Given the description of an element on the screen output the (x, y) to click on. 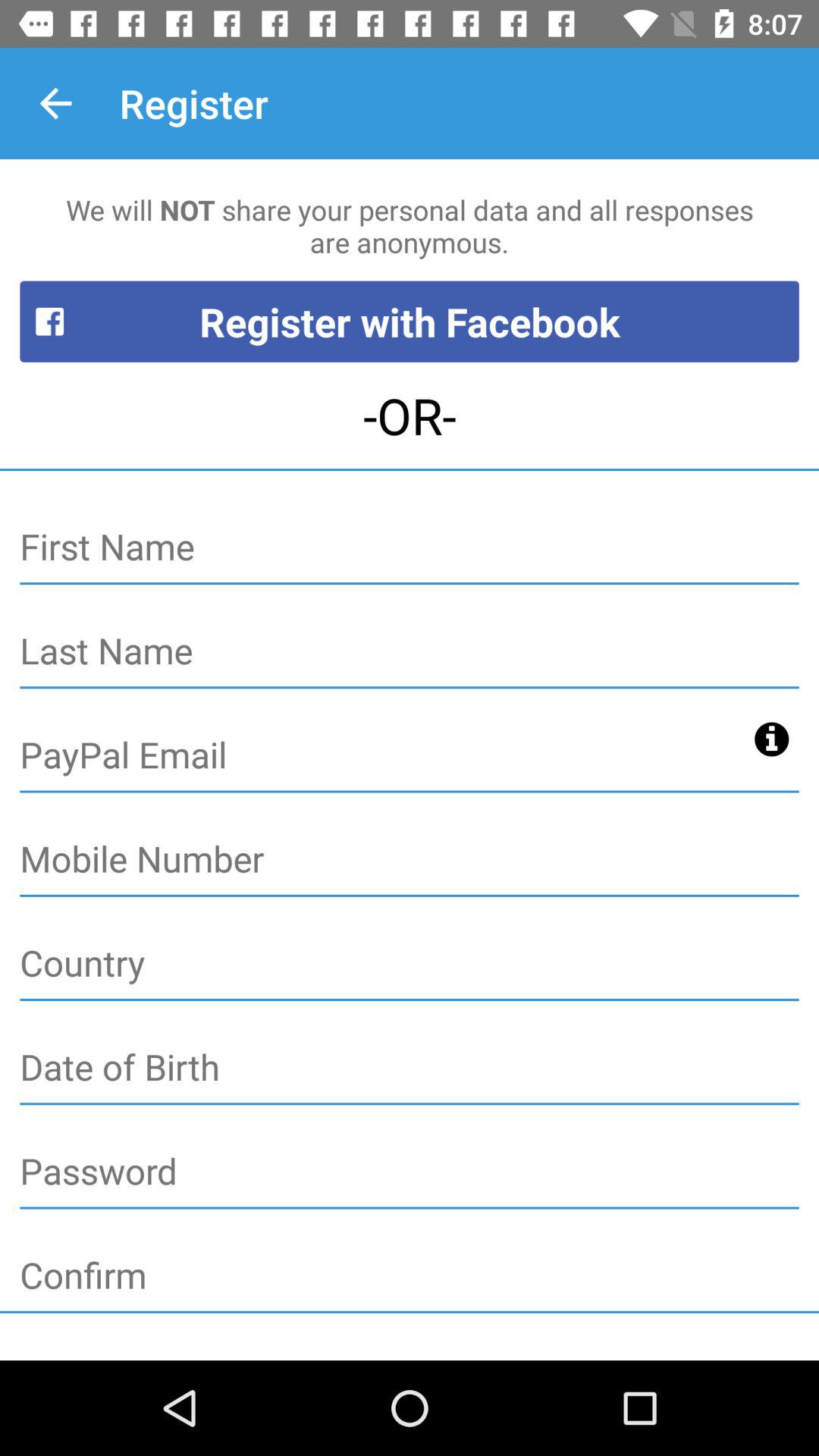
swipe until the register with facebook icon (409, 321)
